Given the description of an element on the screen output the (x, y) to click on. 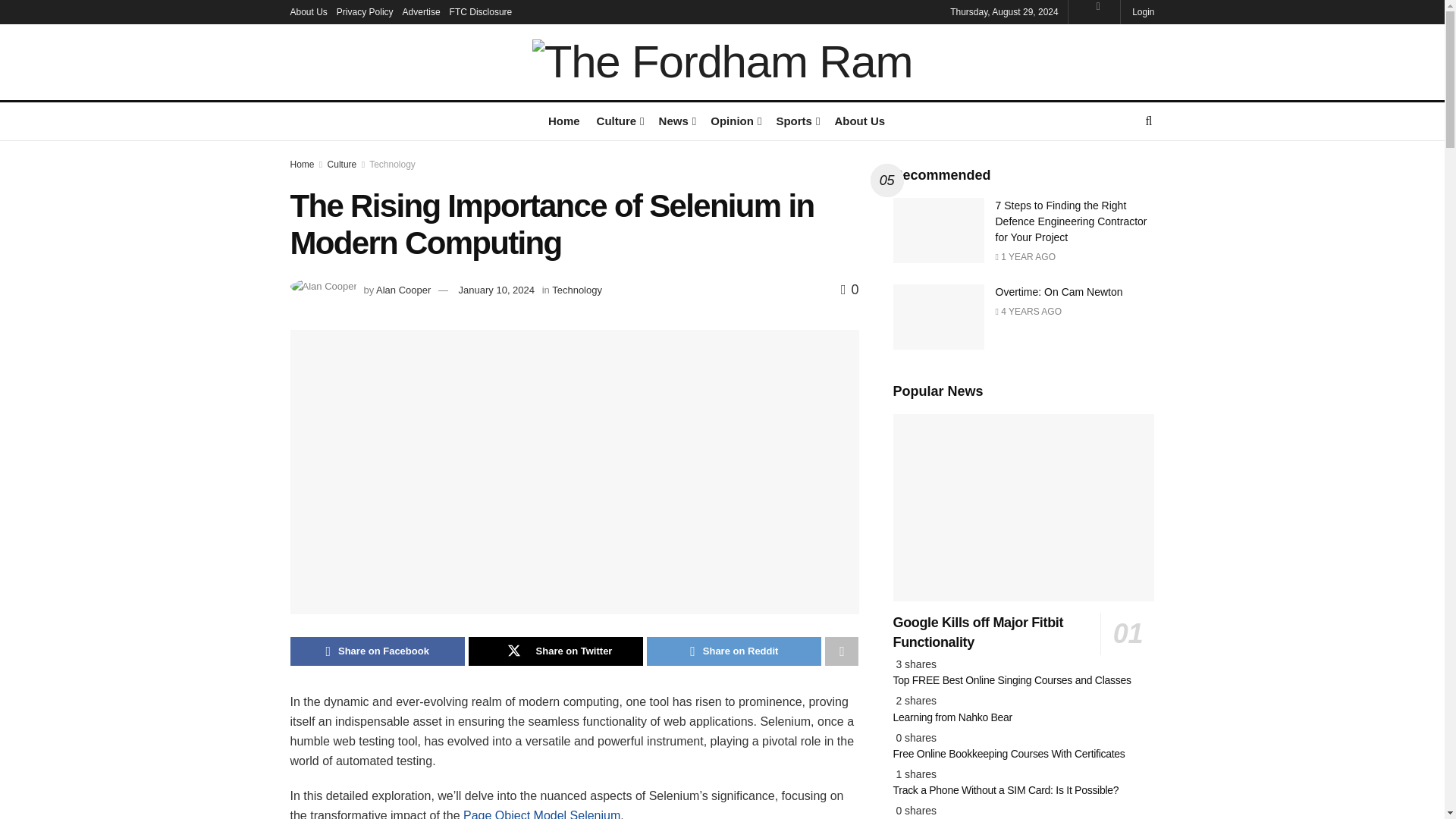
Sports (796, 120)
Advertise (422, 12)
News (676, 120)
Privacy Policy (364, 12)
About Us (307, 12)
Home (563, 120)
Login (1141, 12)
Opinion (734, 120)
FTC Disclosure (480, 12)
Culture (619, 120)
